Given the description of an element on the screen output the (x, y) to click on. 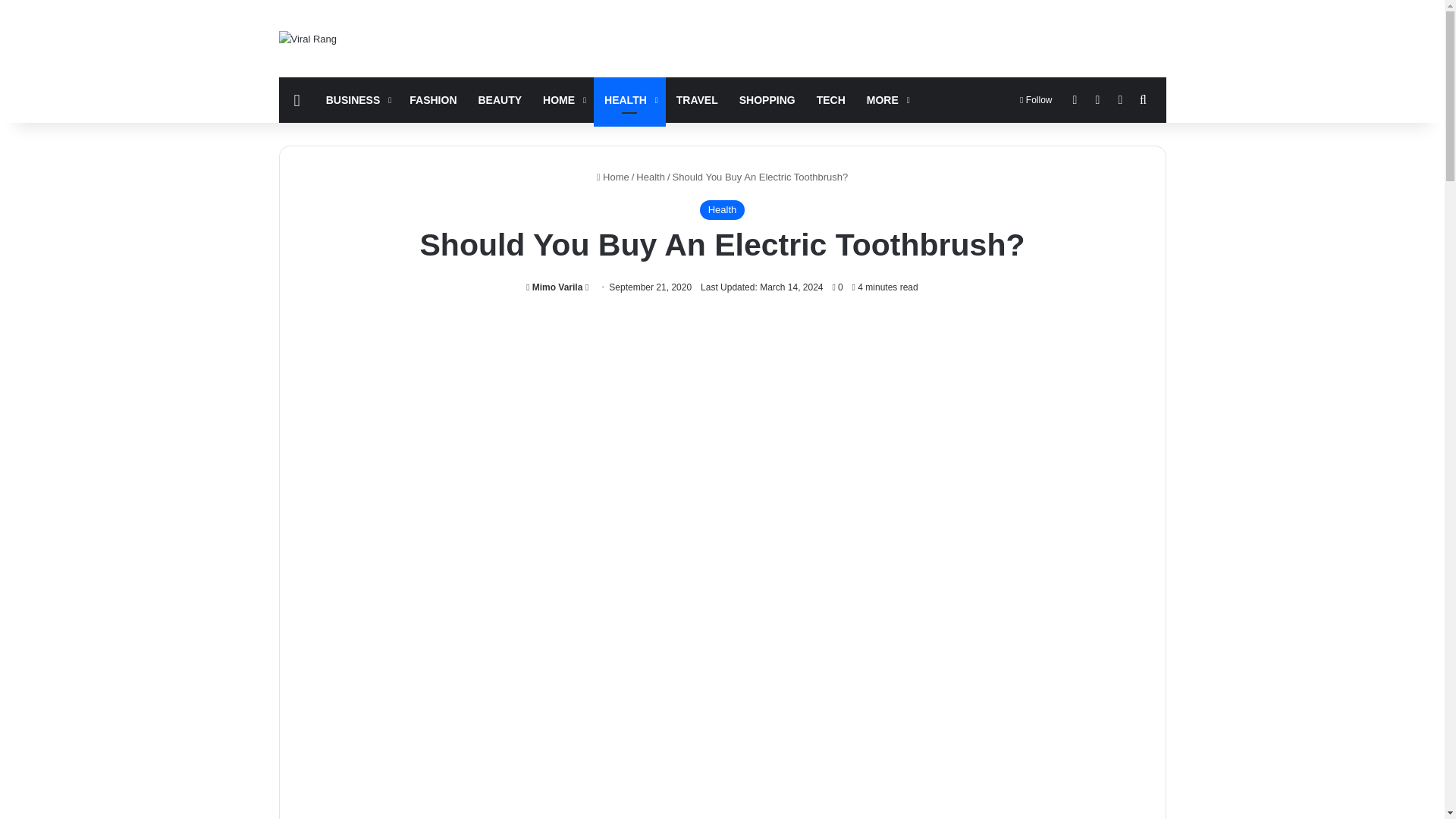
Viral Rang (307, 38)
TECH (831, 99)
HEALTH (629, 99)
Follow (1035, 99)
Mimo Varila (553, 286)
TRAVEL (697, 99)
SHOPPING (767, 99)
BUSINESS (356, 99)
HOME (563, 99)
BEAUTY (499, 99)
